Given the description of an element on the screen output the (x, y) to click on. 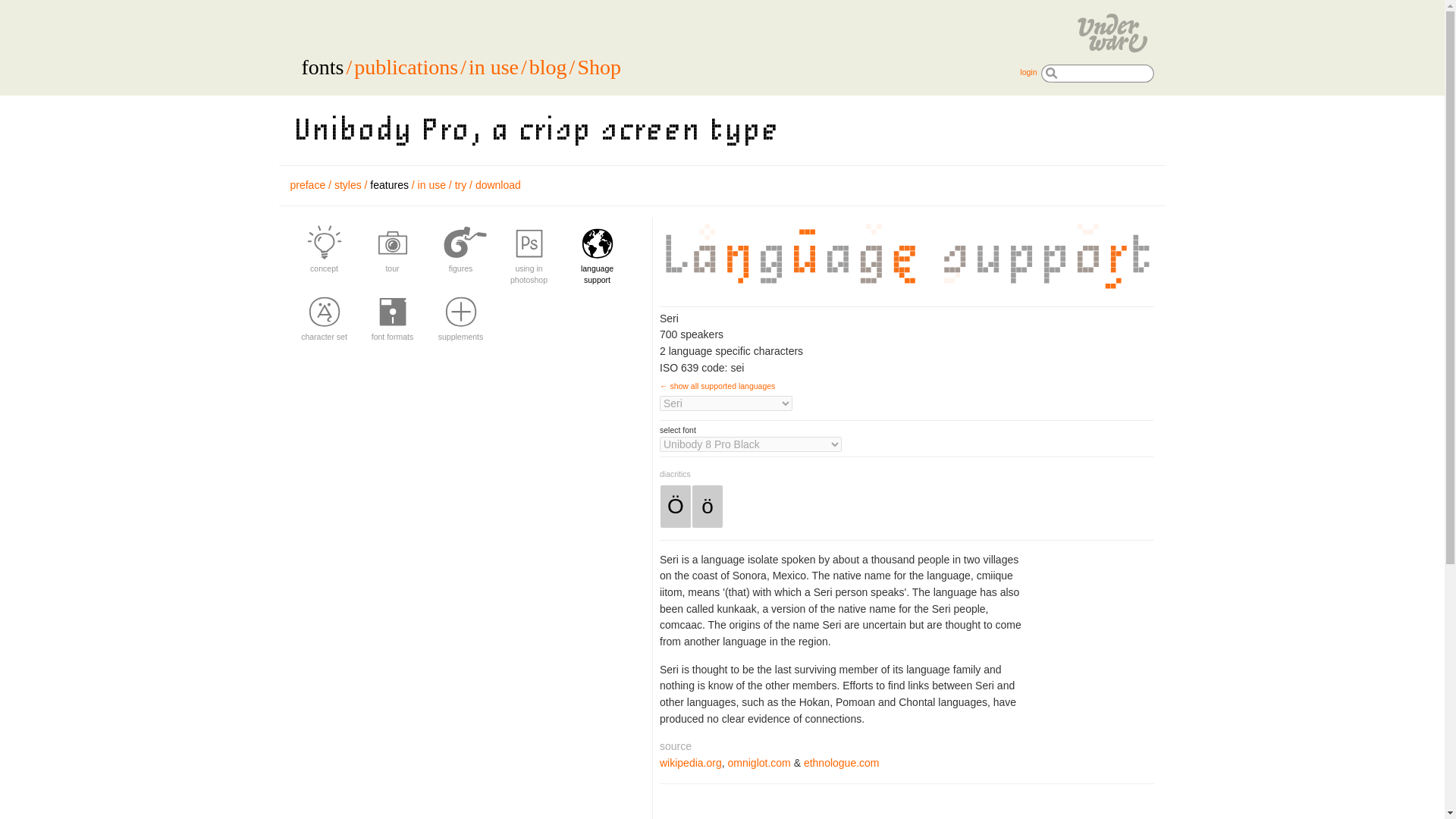
fonts (322, 66)
in use (493, 66)
Shop (598, 66)
login (1028, 71)
publications (405, 66)
blog (548, 66)
preface (306, 184)
styles (347, 184)
